Given the description of an element on the screen output the (x, y) to click on. 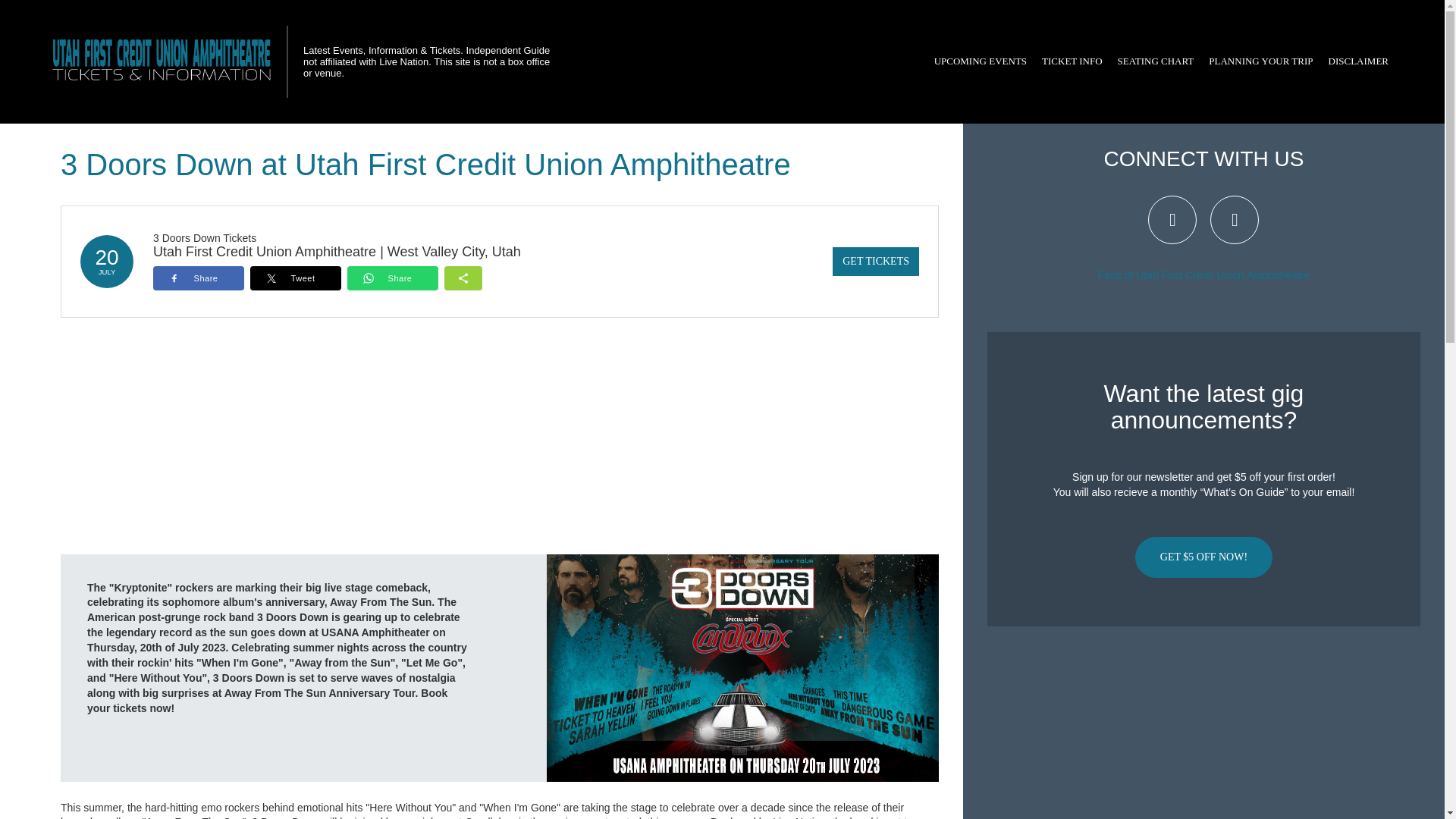
3 Doors Down Tickets (204, 237)
PLANNING YOUR TRIP (1260, 61)
Fans of Utah First Credit Union Amphitheatre (1202, 275)
DISCLAIMER (1358, 61)
SEATING CHART (1155, 61)
UPCOMING EVENTS (979, 61)
3 Doors Down at USANA Amphitheater (743, 667)
GET TICKETS (875, 261)
TICKET INFO (1071, 61)
Advertisement (1204, 728)
